Given the description of an element on the screen output the (x, y) to click on. 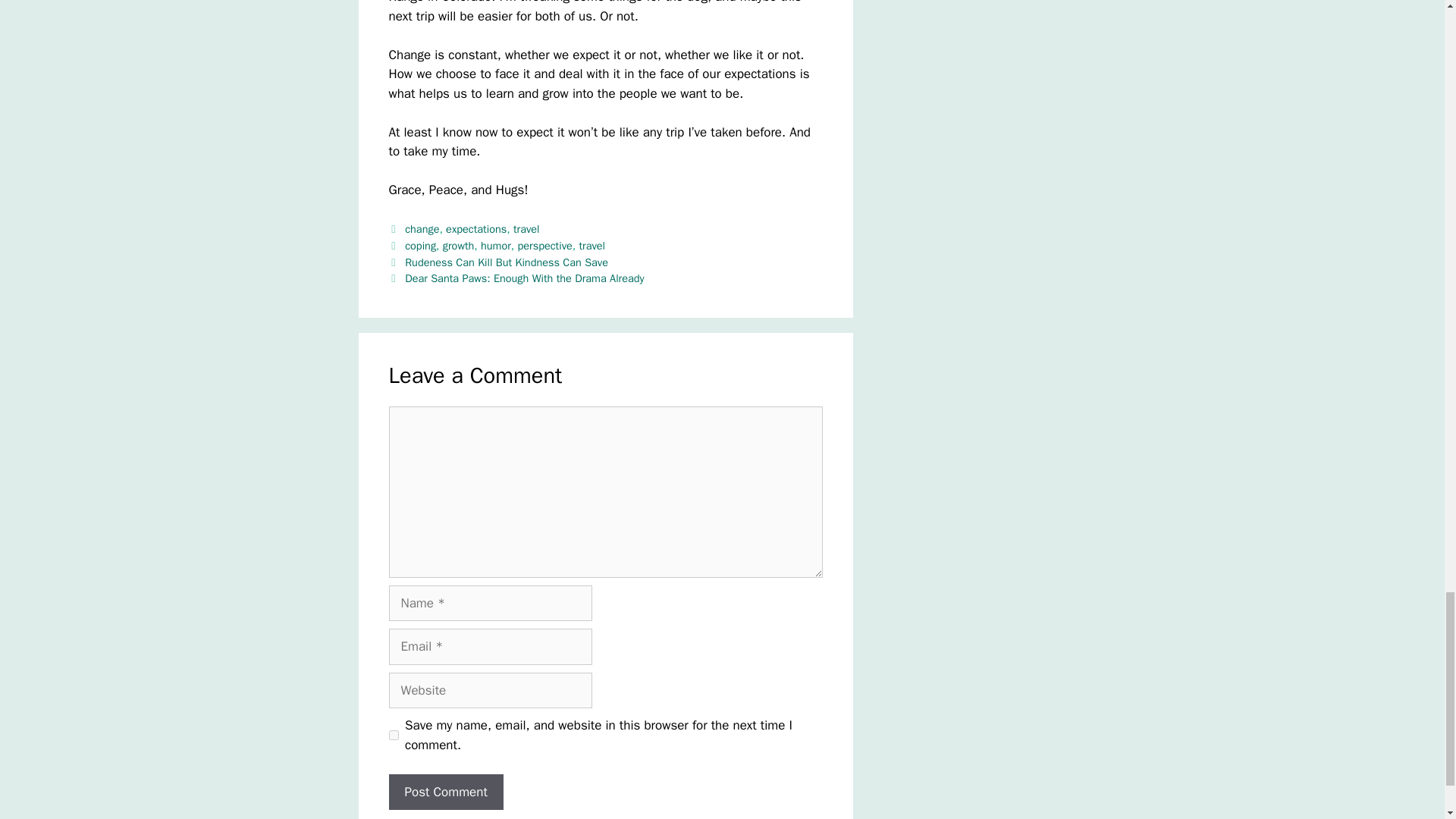
growth (458, 245)
Post Comment (445, 791)
humor (495, 245)
travel (526, 228)
Post Comment (445, 791)
change (421, 228)
Rudeness Can Kill But Kindness Can Save (506, 262)
travel (591, 245)
coping (419, 245)
Dear Santa Paws: Enough With the Drama Already (523, 278)
